Given the description of an element on the screen output the (x, y) to click on. 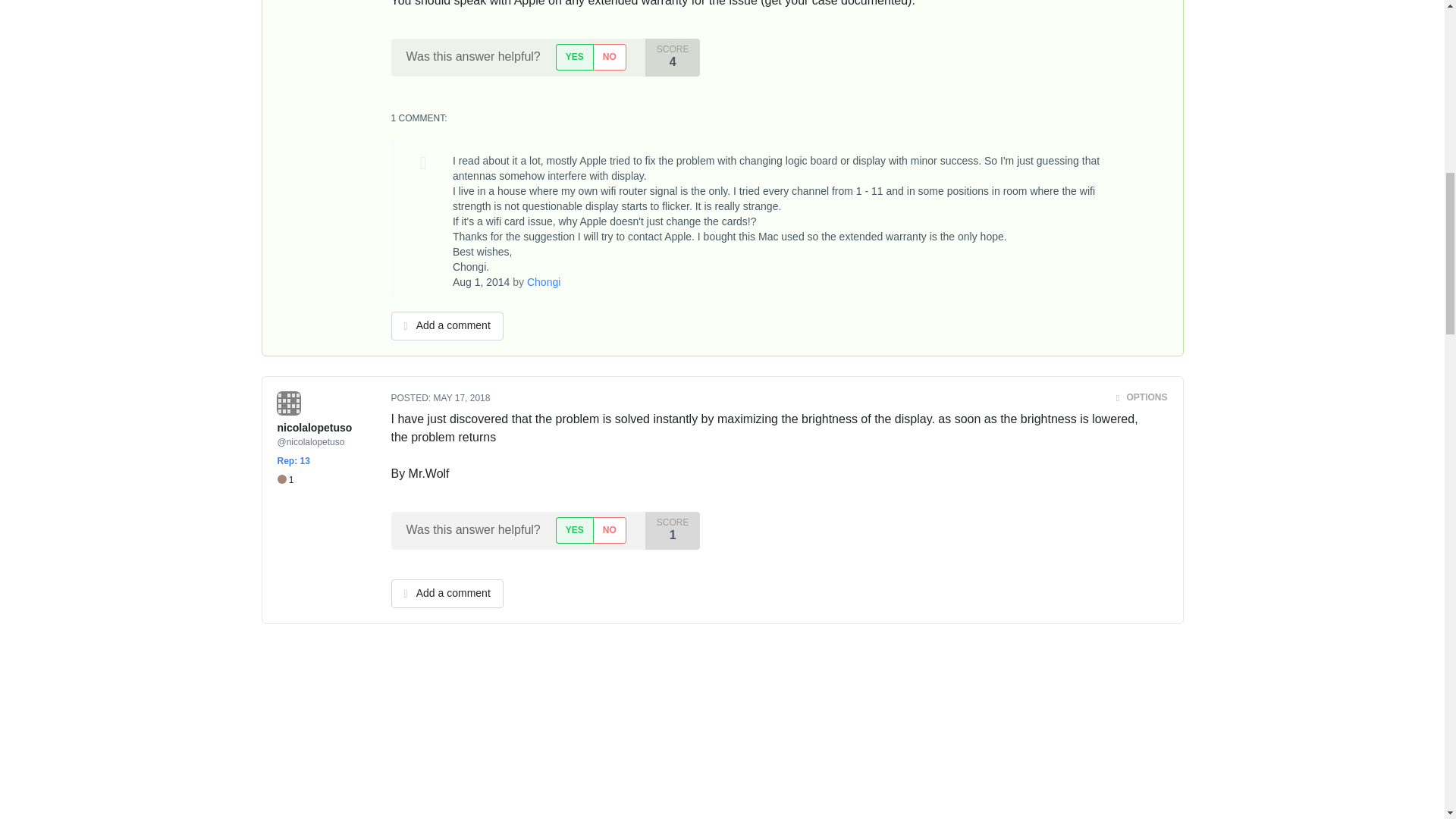
YES (574, 57)
NO (609, 57)
1 Bronze badges (286, 480)
Thu, 17 May 2018 07:17:51 -0700 (461, 398)
Fri, 01 Aug 2014 14:37:17 -0700 (481, 282)
